Given the description of an element on the screen output the (x, y) to click on. 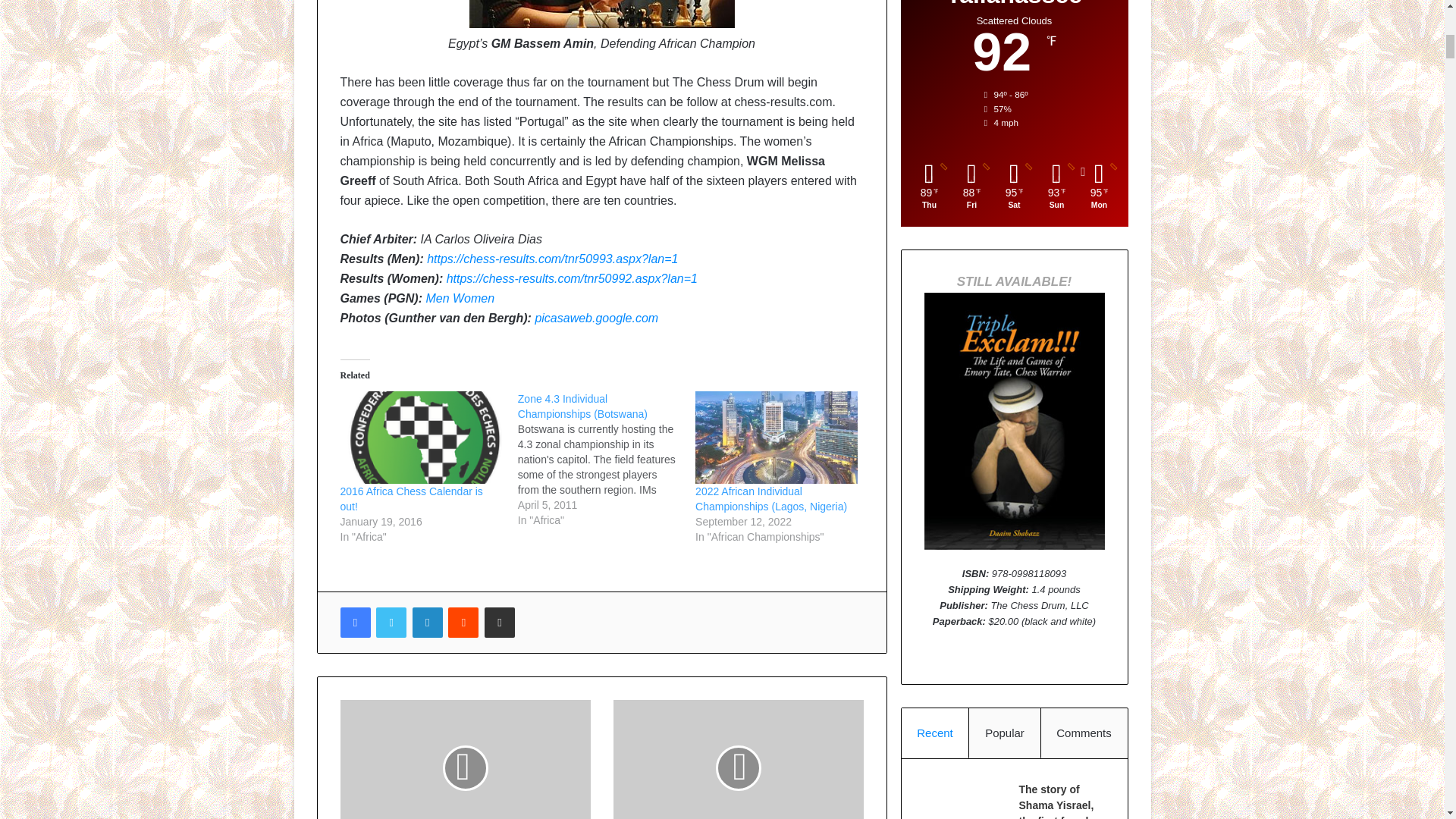
2016 Africa Chess Calendar is out! (420, 437)
Men (436, 297)
2016 Africa Chess Calendar is out! (410, 498)
